Given the description of an element on the screen output the (x, y) to click on. 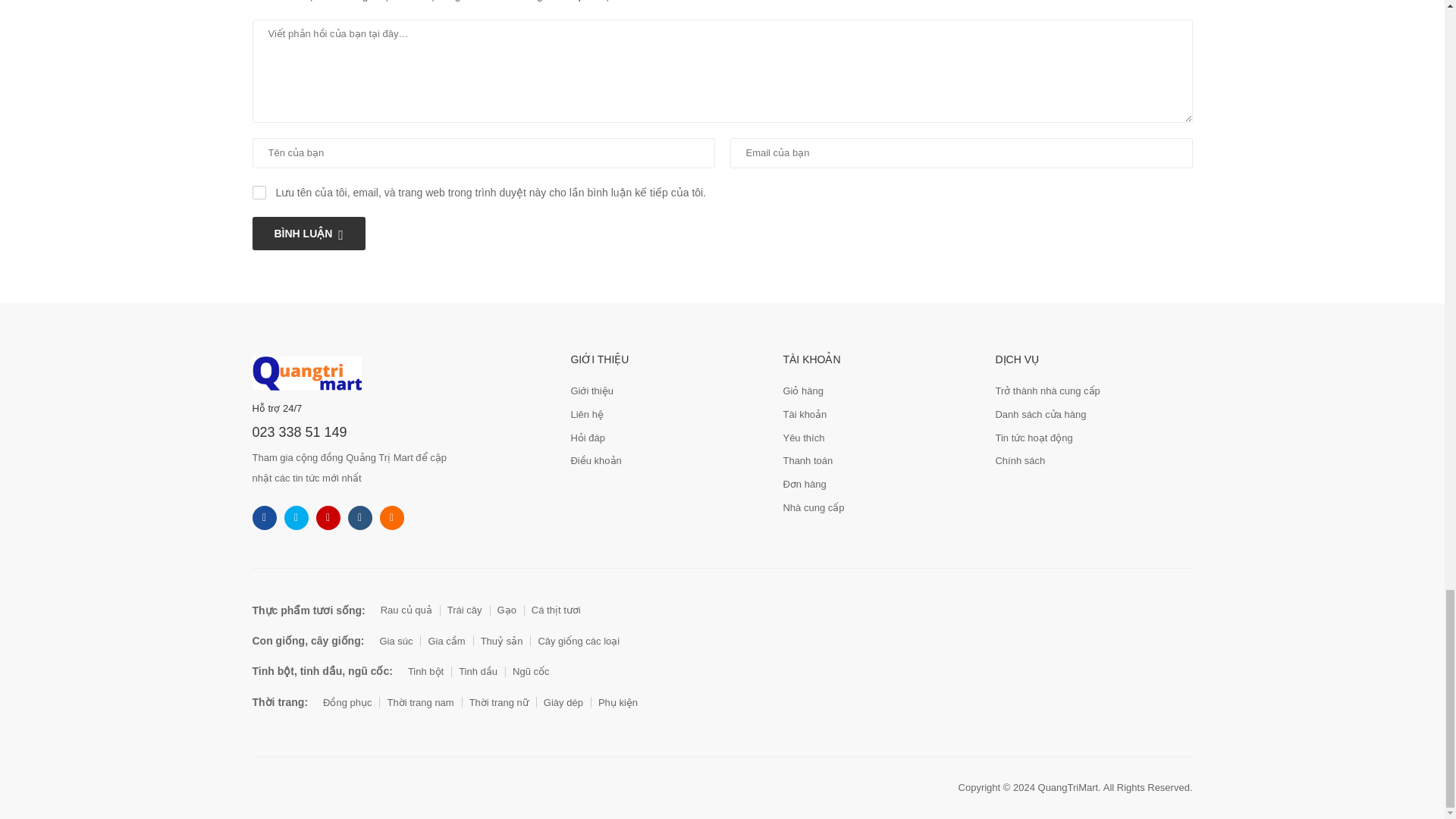
instagram (327, 517)
facebook (263, 517)
youtube (359, 517)
twitter (295, 517)
yes (257, 192)
pinterest (390, 517)
